Given the description of an element on the screen output the (x, y) to click on. 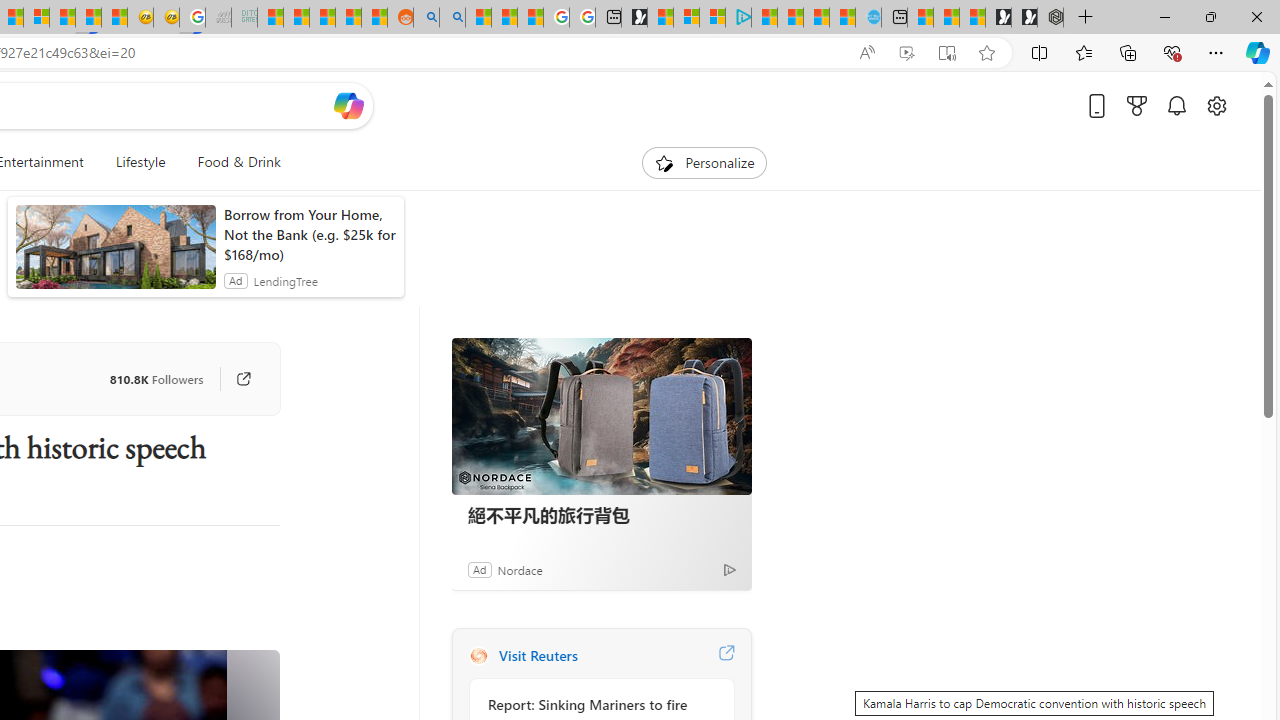
Student Loan Update: Forgiveness Program Ends This Month (347, 17)
